Given the description of an element on the screen output the (x, y) to click on. 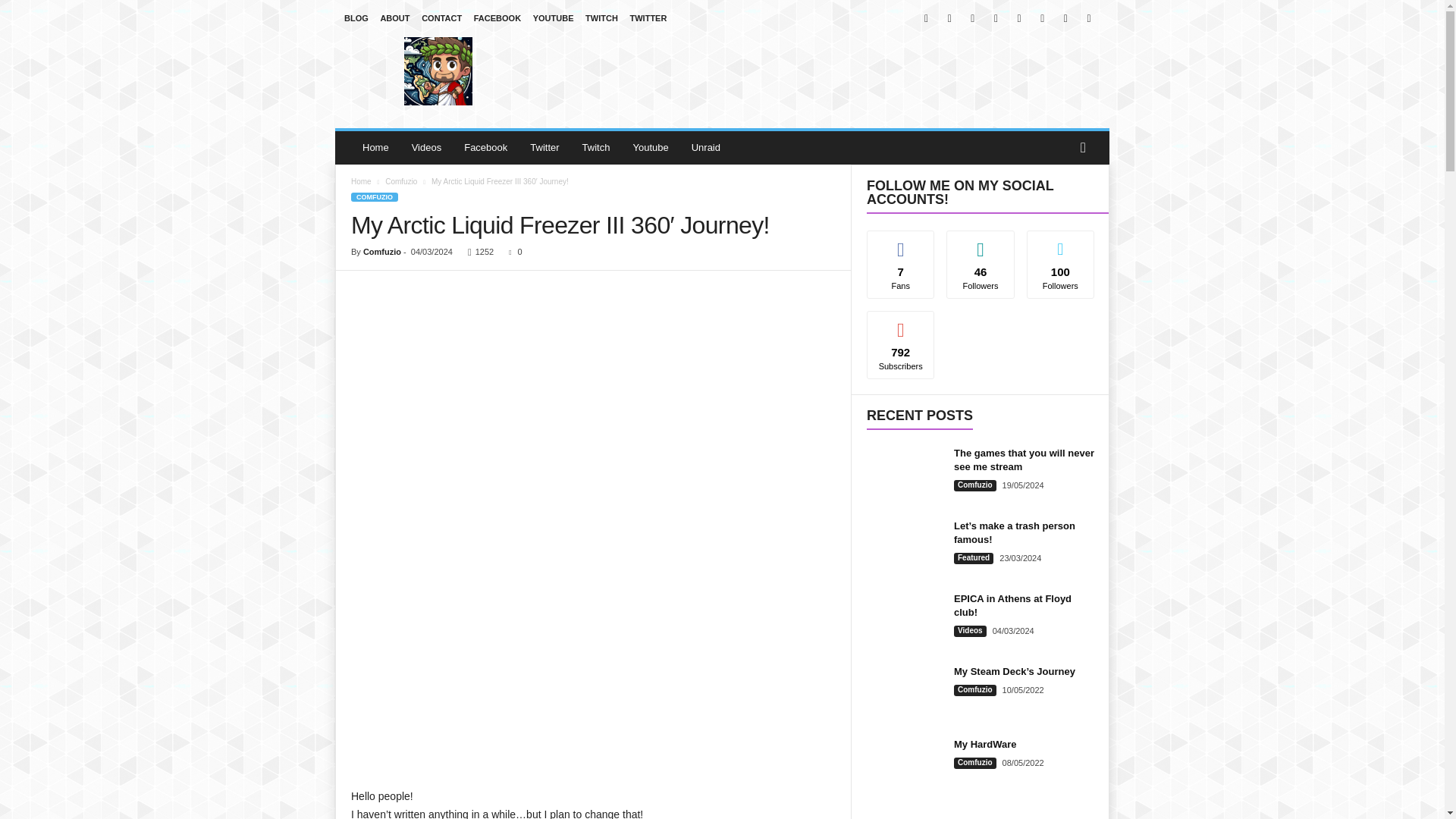
BLOG (355, 17)
Home (375, 147)
FACEBOOK (497, 17)
YOUTUBE (552, 17)
Videos (426, 147)
ABOUT (394, 17)
Twitch (595, 147)
Comfuzio (437, 70)
Unraid (705, 147)
TWITTER (647, 17)
